Given the description of an element on the screen output the (x, y) to click on. 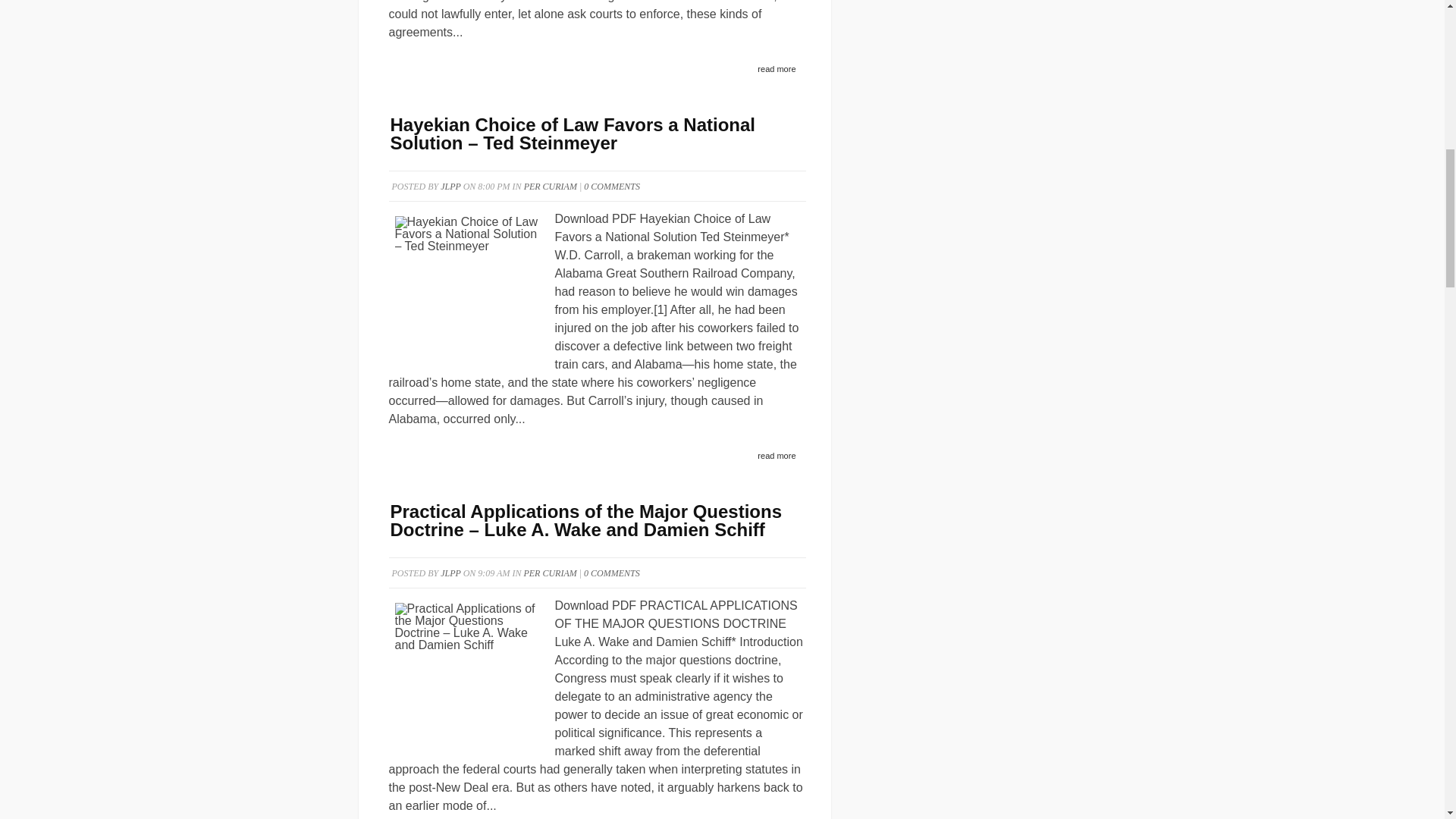
JLPP (450, 573)
read more (776, 69)
0 COMMENTS (611, 185)
JLPP (450, 185)
Posts by JLPP (450, 185)
Posts by JLPP (450, 573)
read more (776, 456)
PER CURIAM (550, 185)
